Given the description of an element on the screen output the (x, y) to click on. 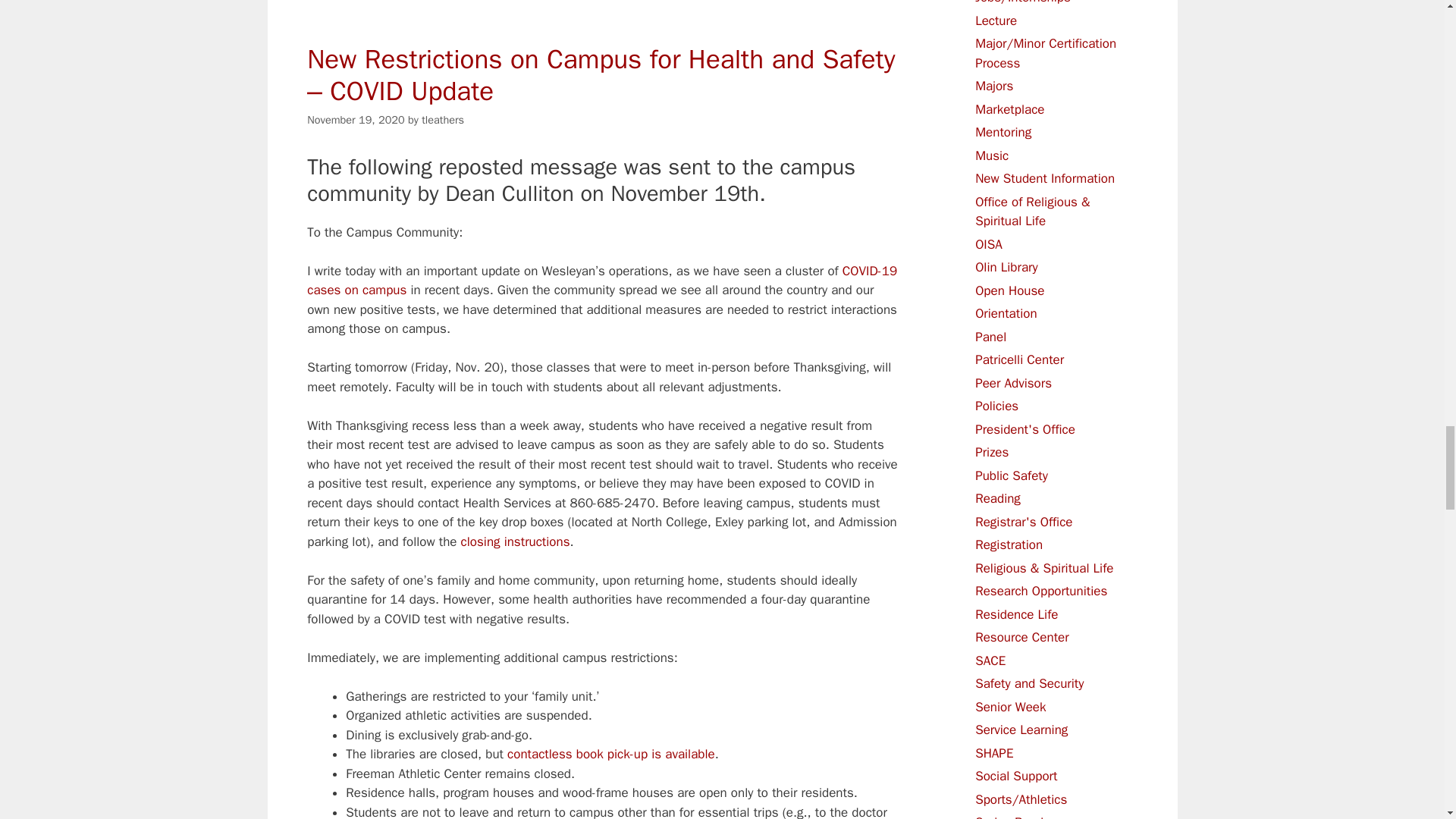
View all posts by tleathers (443, 119)
